Given the description of an element on the screen output the (x, y) to click on. 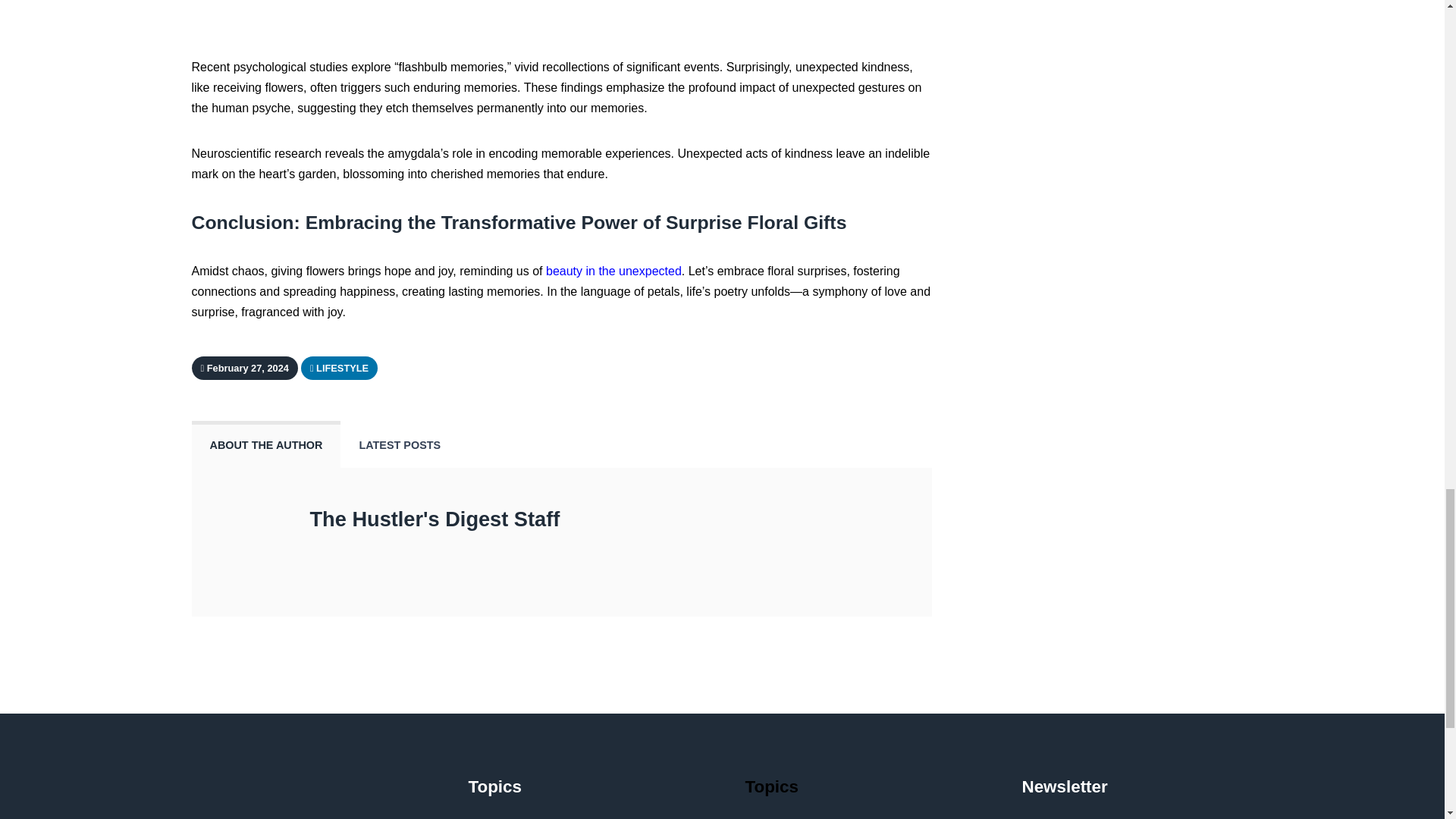
LIFESTYLE (340, 367)
LATEST POSTS (399, 444)
The Hustler's Digest Staff (433, 518)
beauty in the unexpected (613, 270)
ABOUT THE AUTHOR (265, 444)
